Given the description of an element on the screen output the (x, y) to click on. 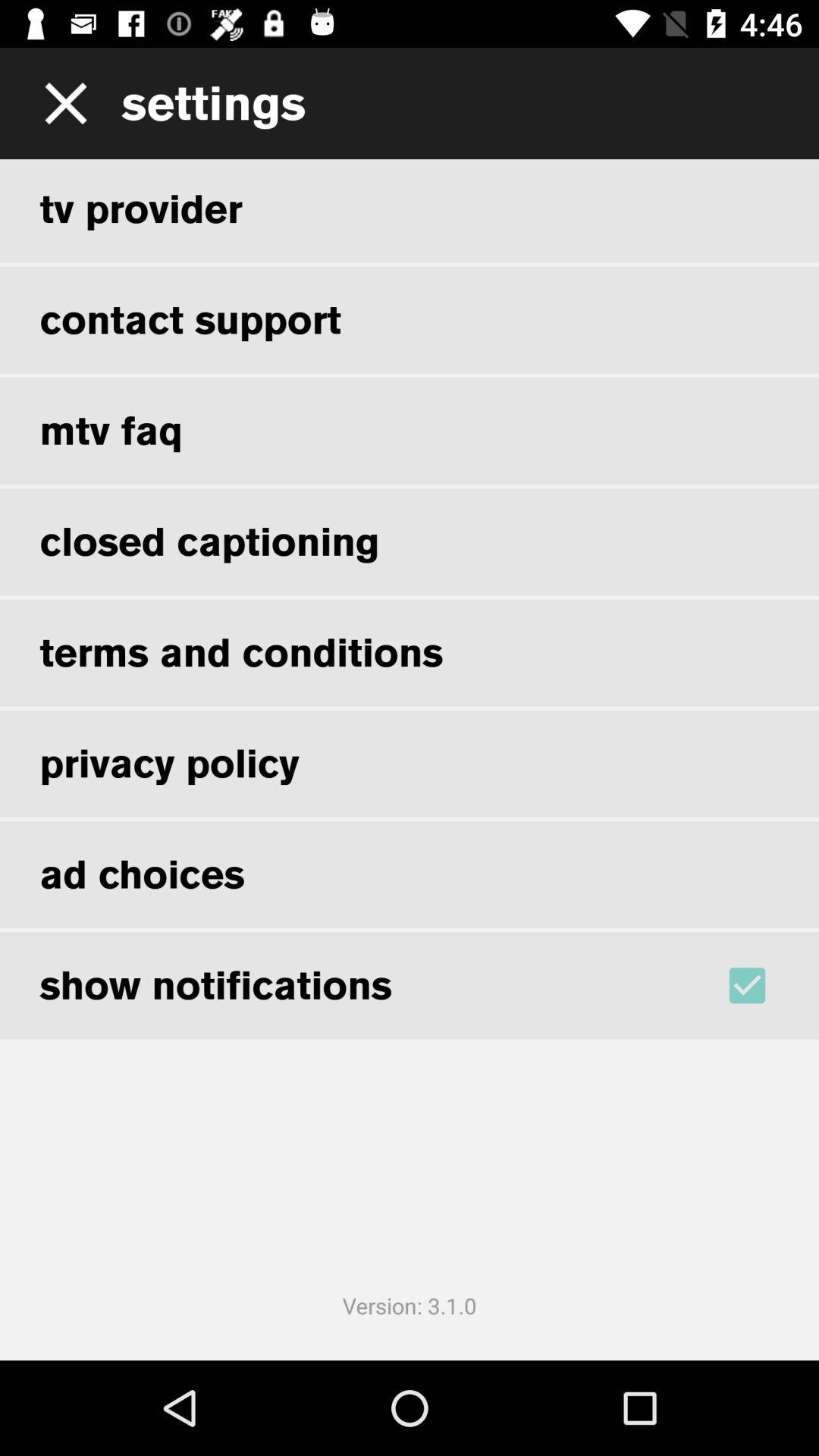
show notification check box (767, 985)
